Given the description of an element on the screen output the (x, y) to click on. 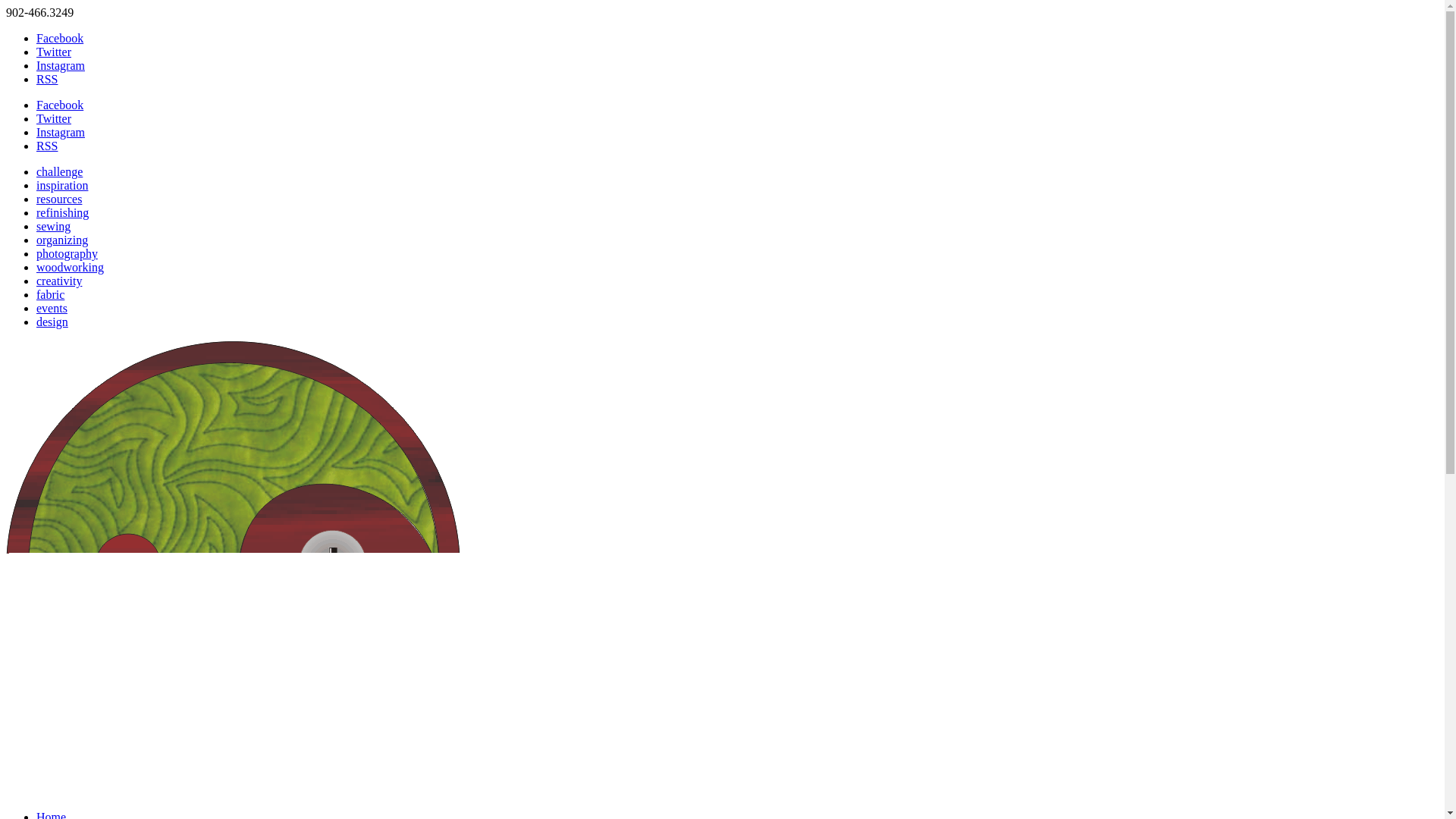
refinishing (62, 212)
Twitter (53, 118)
inspiration (61, 185)
challenge (59, 171)
Instagram (60, 132)
photography (66, 253)
Home (50, 814)
sewing (52, 226)
fabric (50, 294)
resources (58, 198)
